Given the description of an element on the screen output the (x, y) to click on. 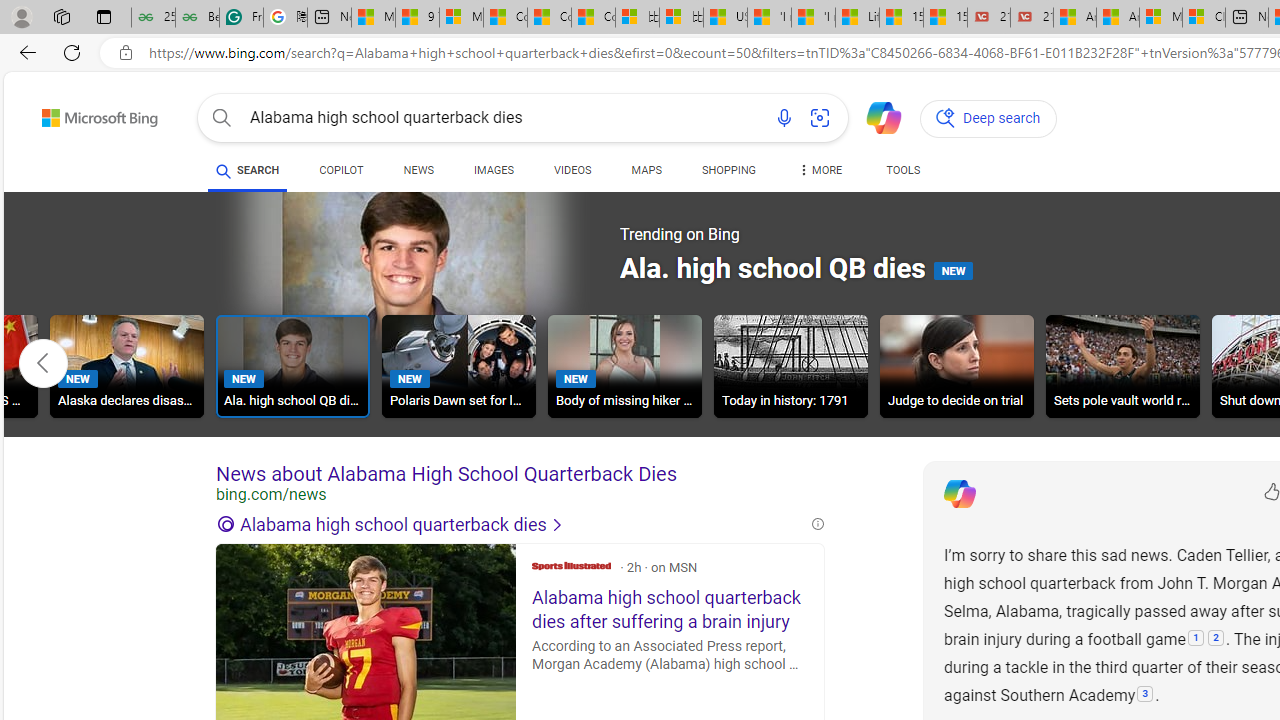
Alaska declares disaster NEW (126, 365)
Lifestyle - MSN (857, 17)
bing.com/news (520, 494)
MAPS (646, 170)
Click to scroll left (43, 362)
Polaris Dawn set for launch NEW (458, 365)
News about Alabama High School Quarterback Dies (520, 474)
